Given the description of an element on the screen output the (x, y) to click on. 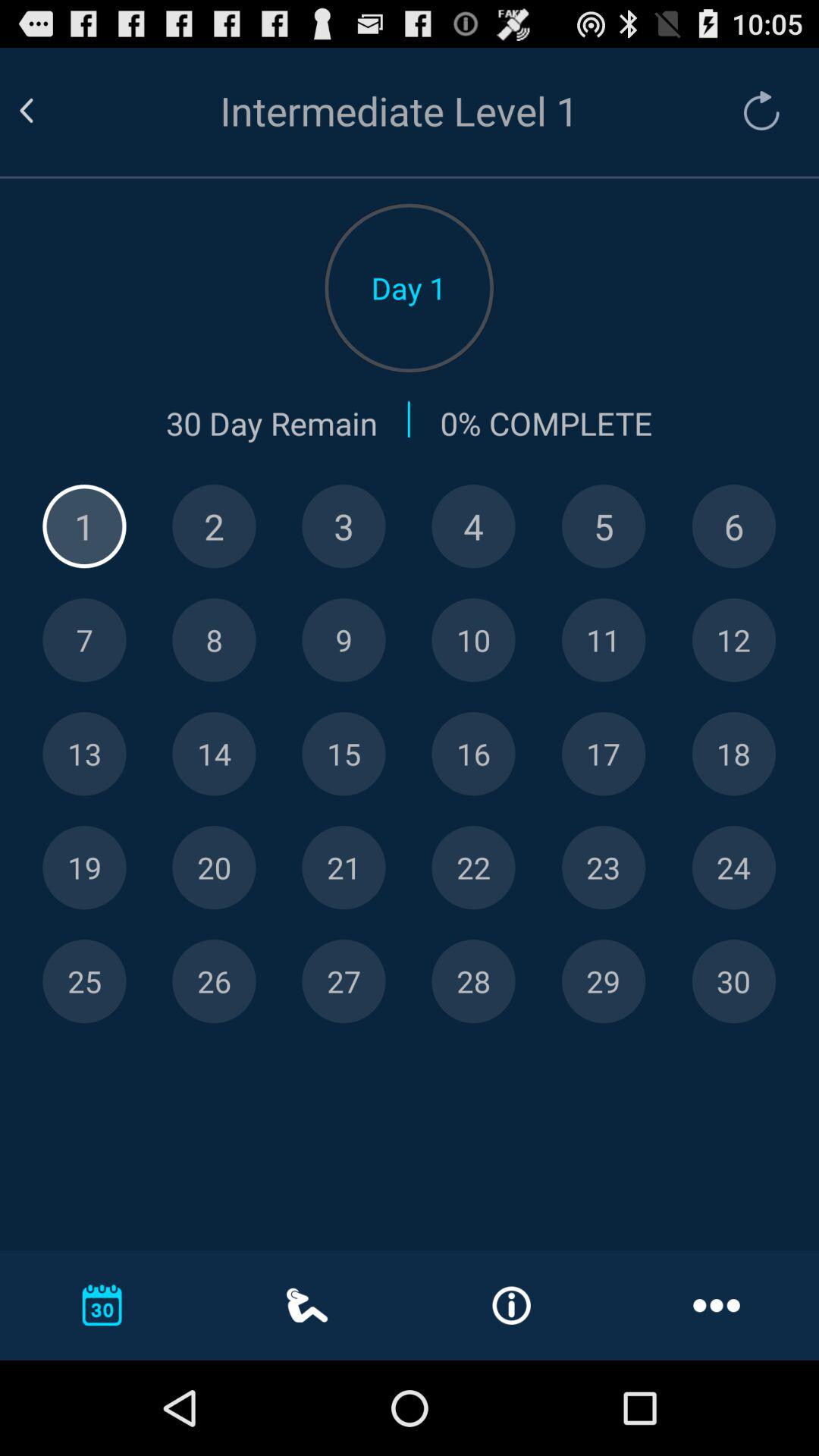
select day 25 (84, 981)
